Given the description of an element on the screen output the (x, y) to click on. 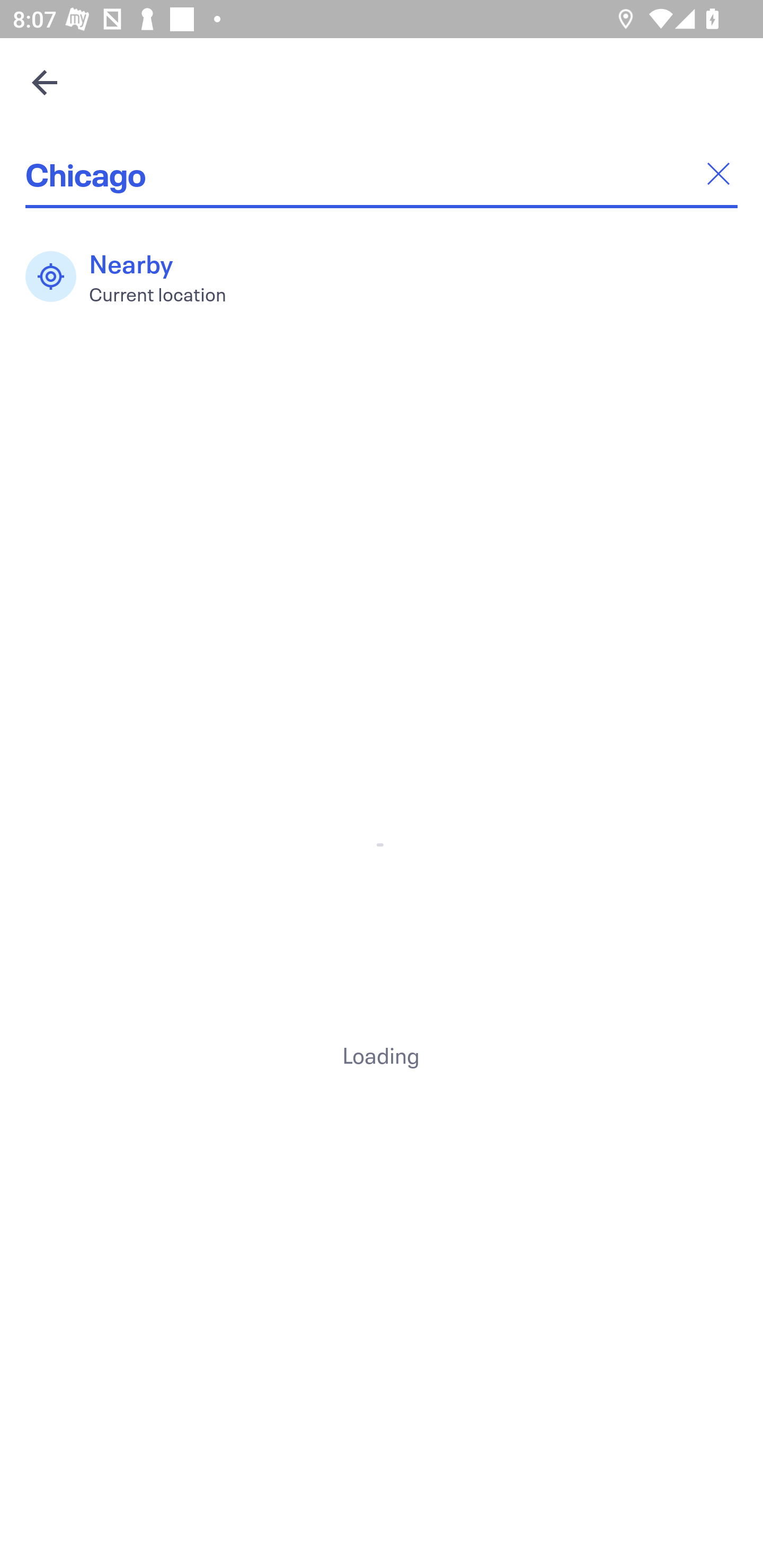
Navigate up (44, 82)
Chicago (381, 173)
Nearby Current location (135, 276)
